Given the description of an element on the screen output the (x, y) to click on. 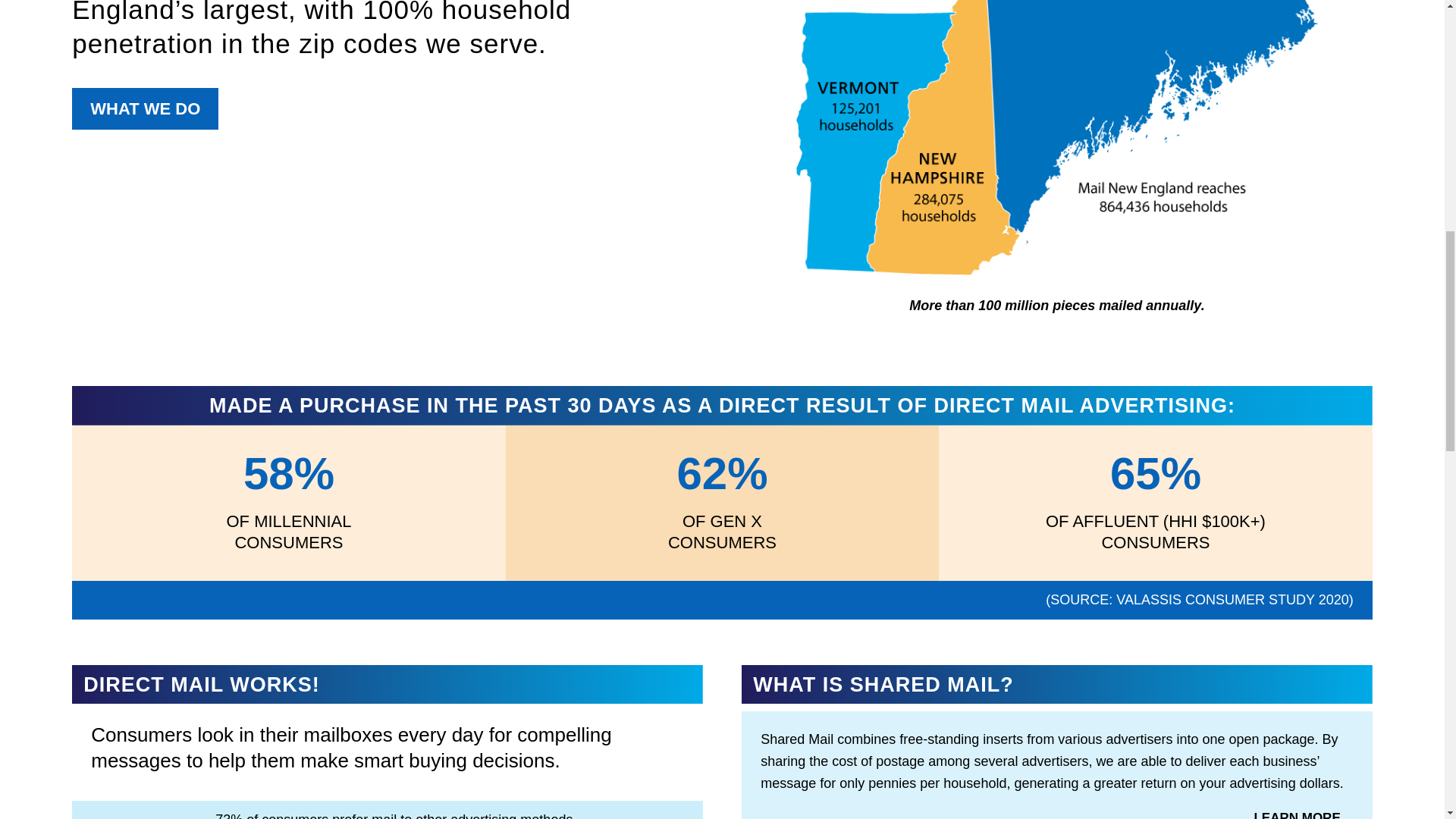
LEARN MORE (1296, 810)
WHAT WE DO (144, 108)
